Given the description of an element on the screen output the (x, y) to click on. 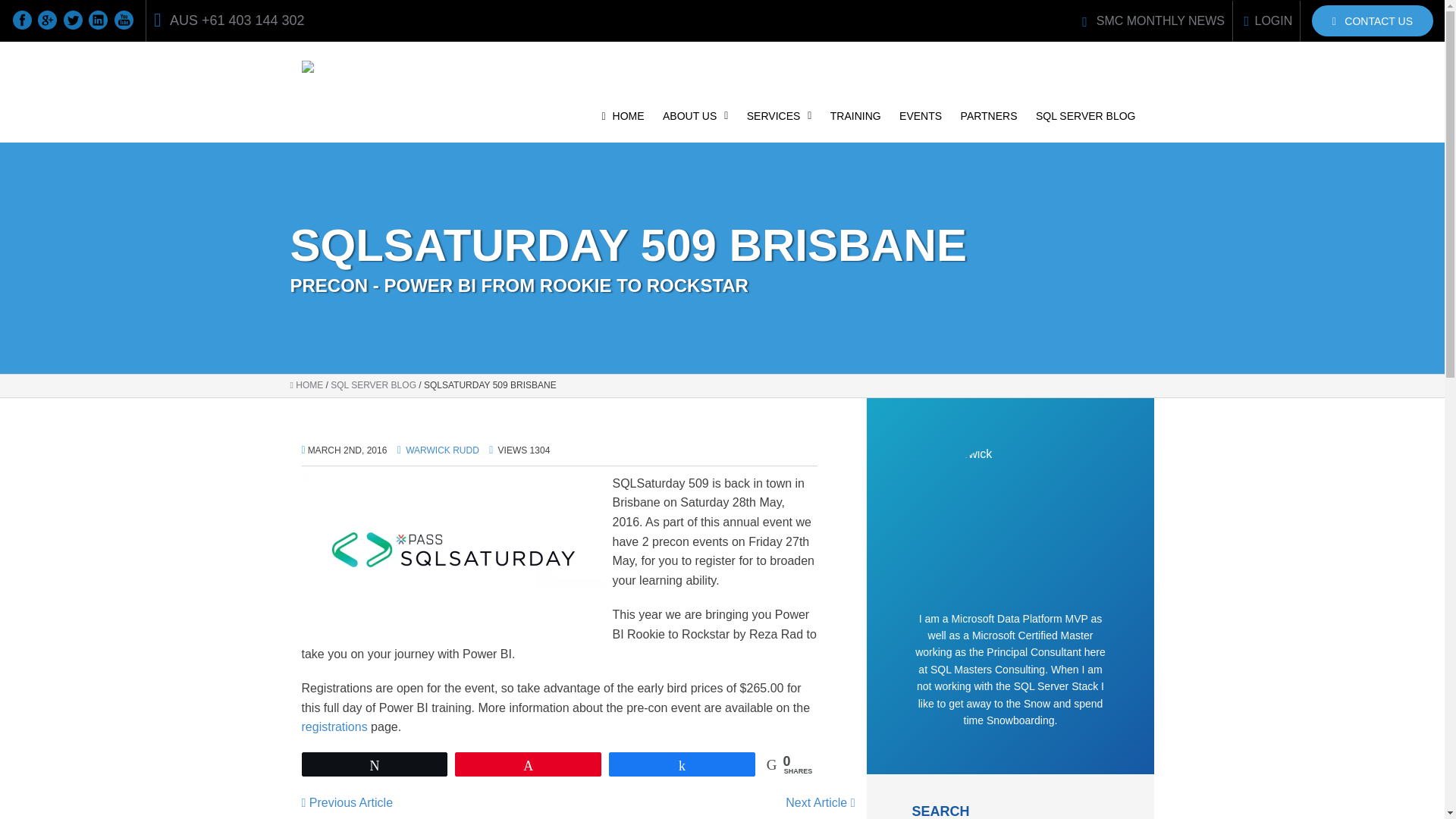
LOGIN (1267, 19)
SERVICES (779, 124)
SQL SERVER BLOG (373, 385)
HOME (306, 385)
EVENTS (920, 124)
WARWICK RUDD (442, 450)
CONTACT US (1371, 20)
SMC MONTHLY NEWS (1152, 19)
PARTNERS (988, 124)
TRAINING (854, 124)
HOME (623, 124)
registrations (334, 726)
ABOUT US (695, 124)
SQL SERVER BLOG (1085, 124)
Posts by Warwick Rudd (442, 450)
